Given the description of an element on the screen output the (x, y) to click on. 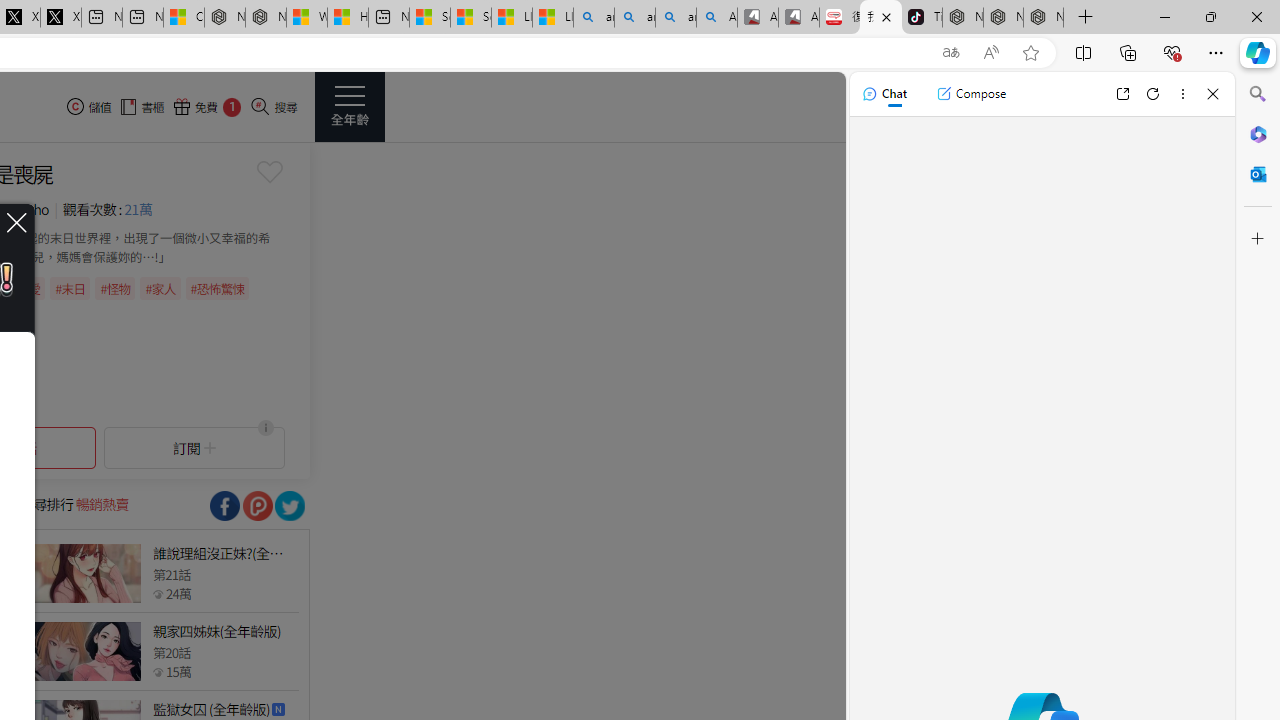
Nordace - Siena Pro 15 Essential Set (1043, 17)
amazon - Search Images (675, 17)
TikTok (922, 17)
X (60, 17)
All Cubot phones (799, 17)
Microsoft 365 (1258, 133)
Huge shark washes ashore at New York City beach | Watch (347, 17)
